Given the description of an element on the screen output the (x, y) to click on. 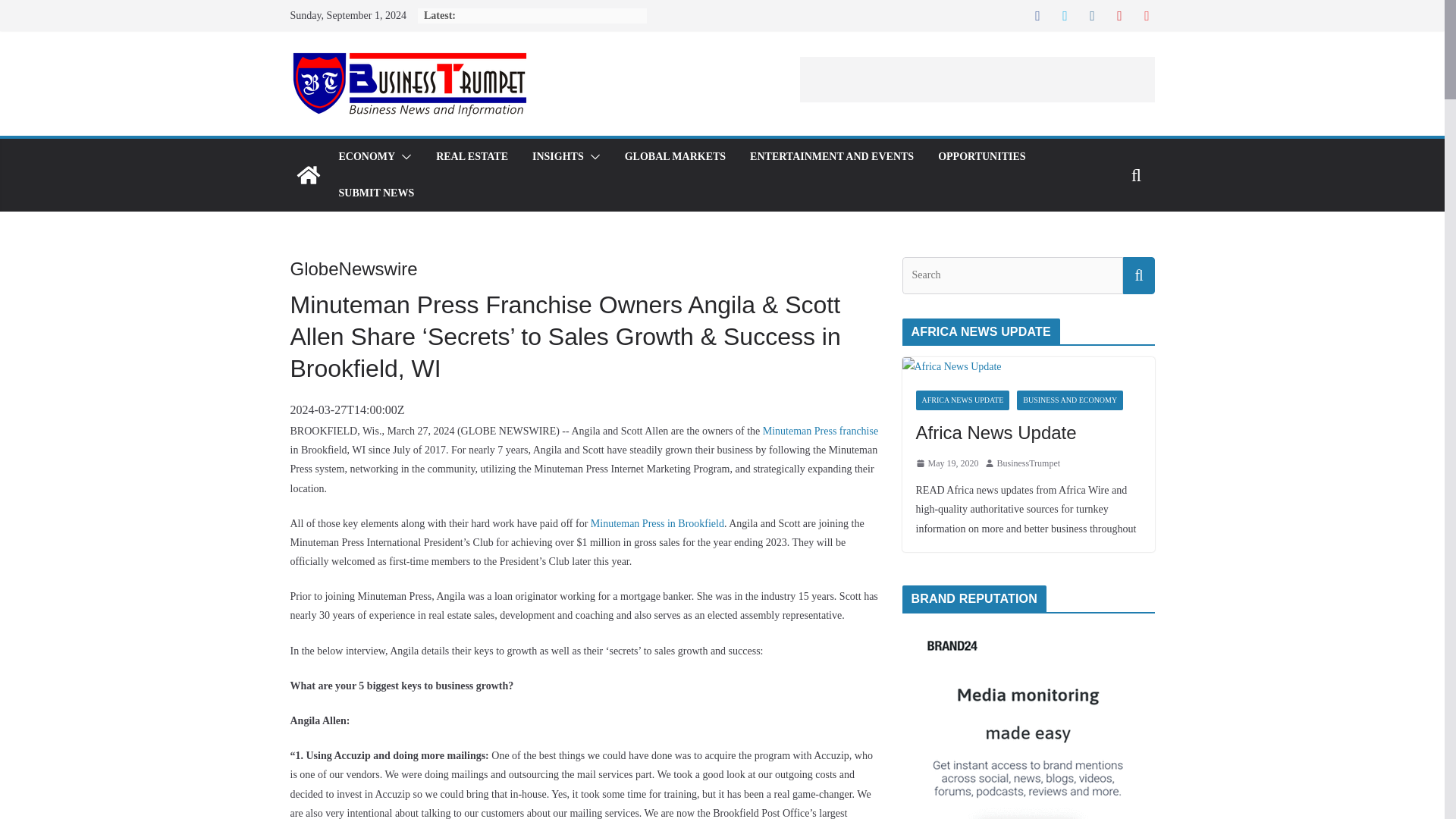
ENTERTAINMENT AND EVENTS (831, 156)
Africa News Update (1028, 432)
ECONOMY (365, 156)
May 19, 2020 (946, 463)
Minuteman Press in Brookfield (657, 523)
Minuteman Press franchise (819, 430)
OPPORTUNITIES (981, 156)
REAL ESTATE (471, 156)
Africa News Update (1028, 432)
SUBMIT NEWS (375, 192)
